Given the description of an element on the screen output the (x, y) to click on. 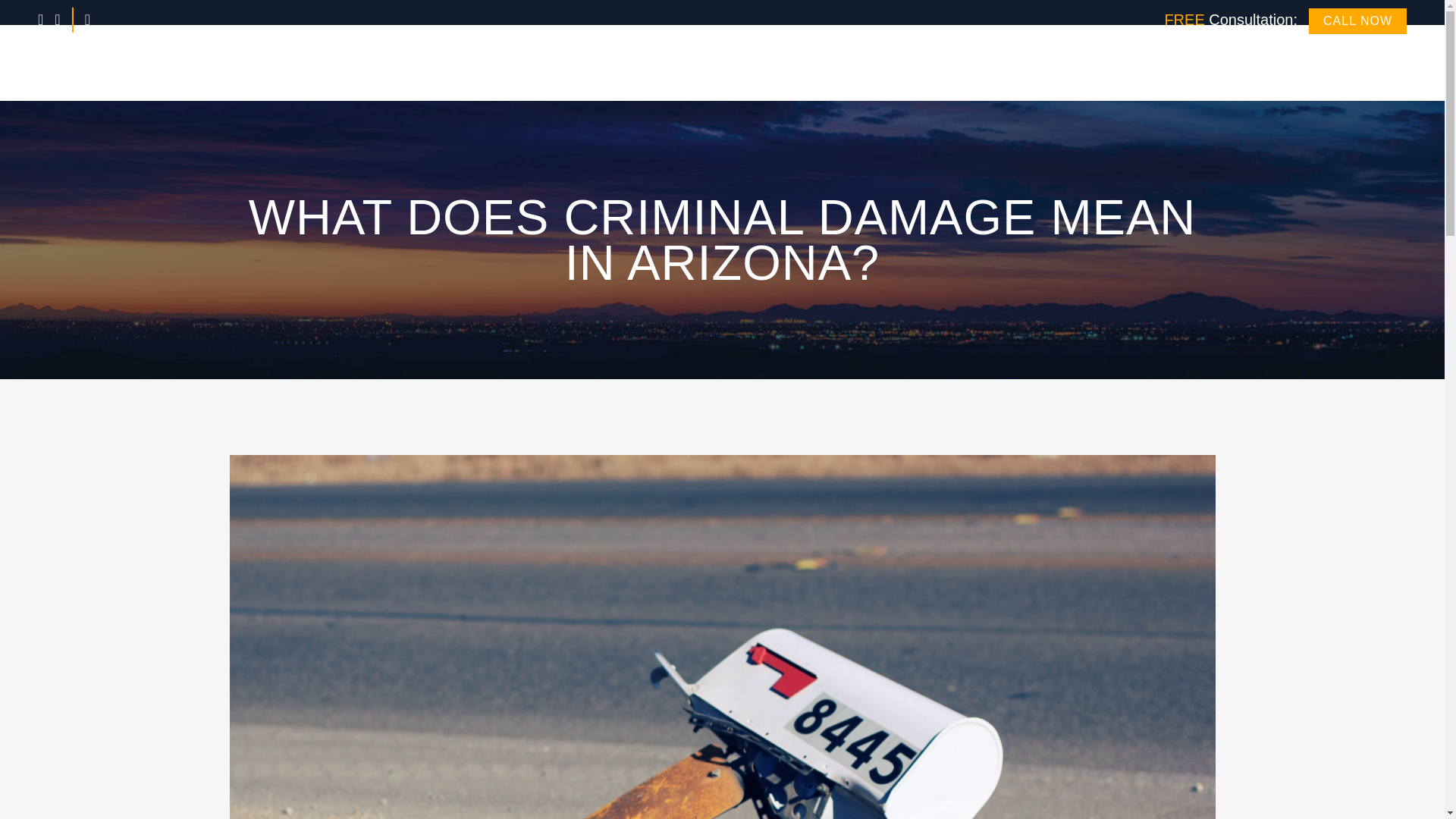
Contact Us (1371, 62)
Our Team (766, 62)
Testimonials (1099, 62)
CALL NOW (1357, 21)
Community Involvement (1215, 62)
Personal Injury (1005, 62)
Criminal Law (910, 62)
